Given the description of an element on the screen output the (x, y) to click on. 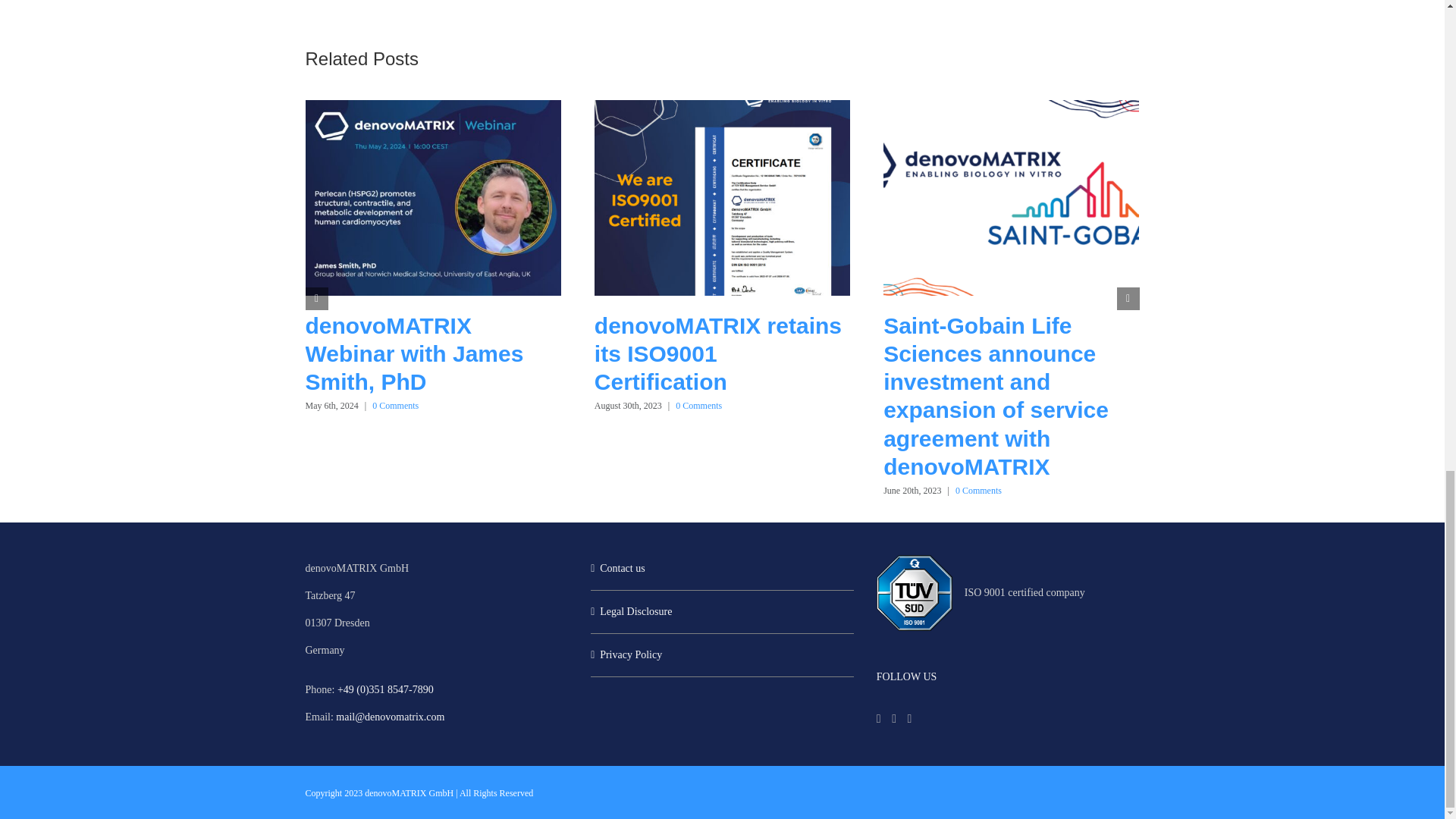
denovoMATRIX Webinar with James Smith, PhD (413, 352)
denovoMATRIX retains its ISO9001 Certification (717, 352)
